Given the description of an element on the screen output the (x, y) to click on. 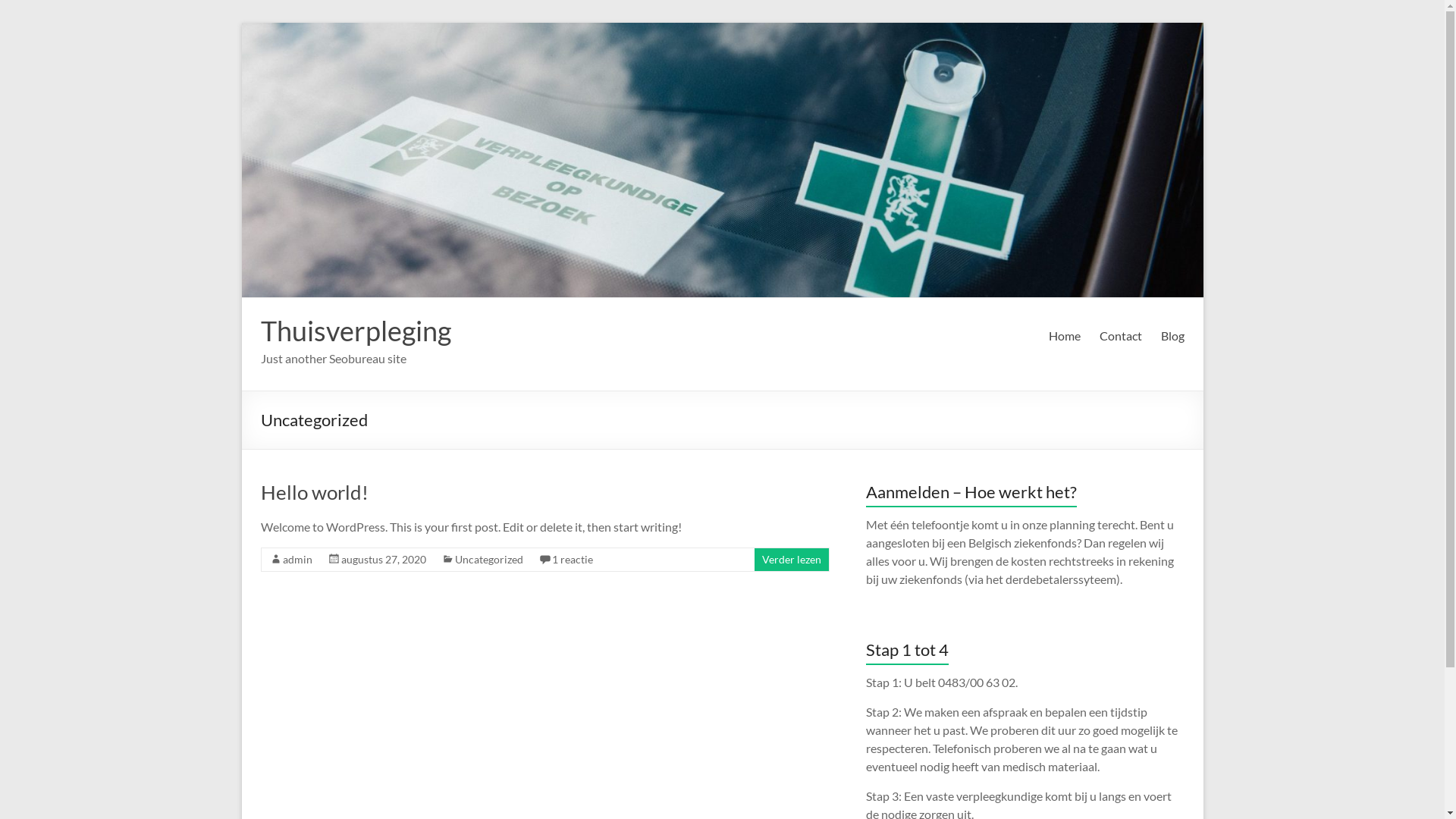
Hello world! Element type: text (314, 492)
Thuisverpleging Element type: text (355, 330)
Contact Element type: text (1120, 335)
Ga naar inhoud Element type: text (241, 21)
Blog Element type: text (1171, 335)
Verder lezen Element type: text (790, 558)
1 reactie Element type: text (572, 558)
Home Element type: text (1063, 335)
augustus 27, 2020 Element type: text (383, 558)
admin Element type: text (296, 558)
Uncategorized Element type: text (489, 558)
